Given the description of an element on the screen output the (x, y) to click on. 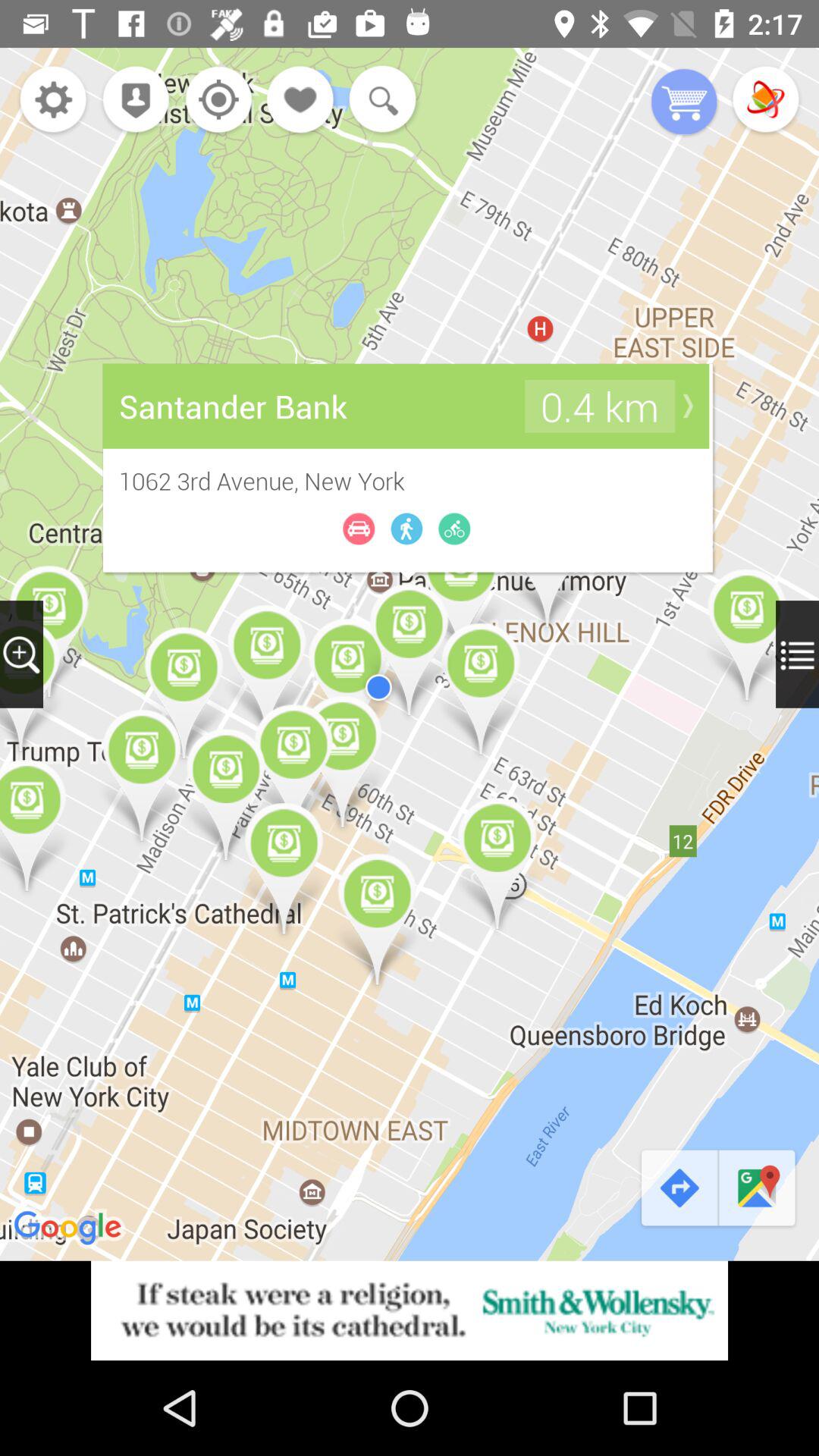
show profile (131, 100)
